Given the description of an element on the screen output the (x, y) to click on. 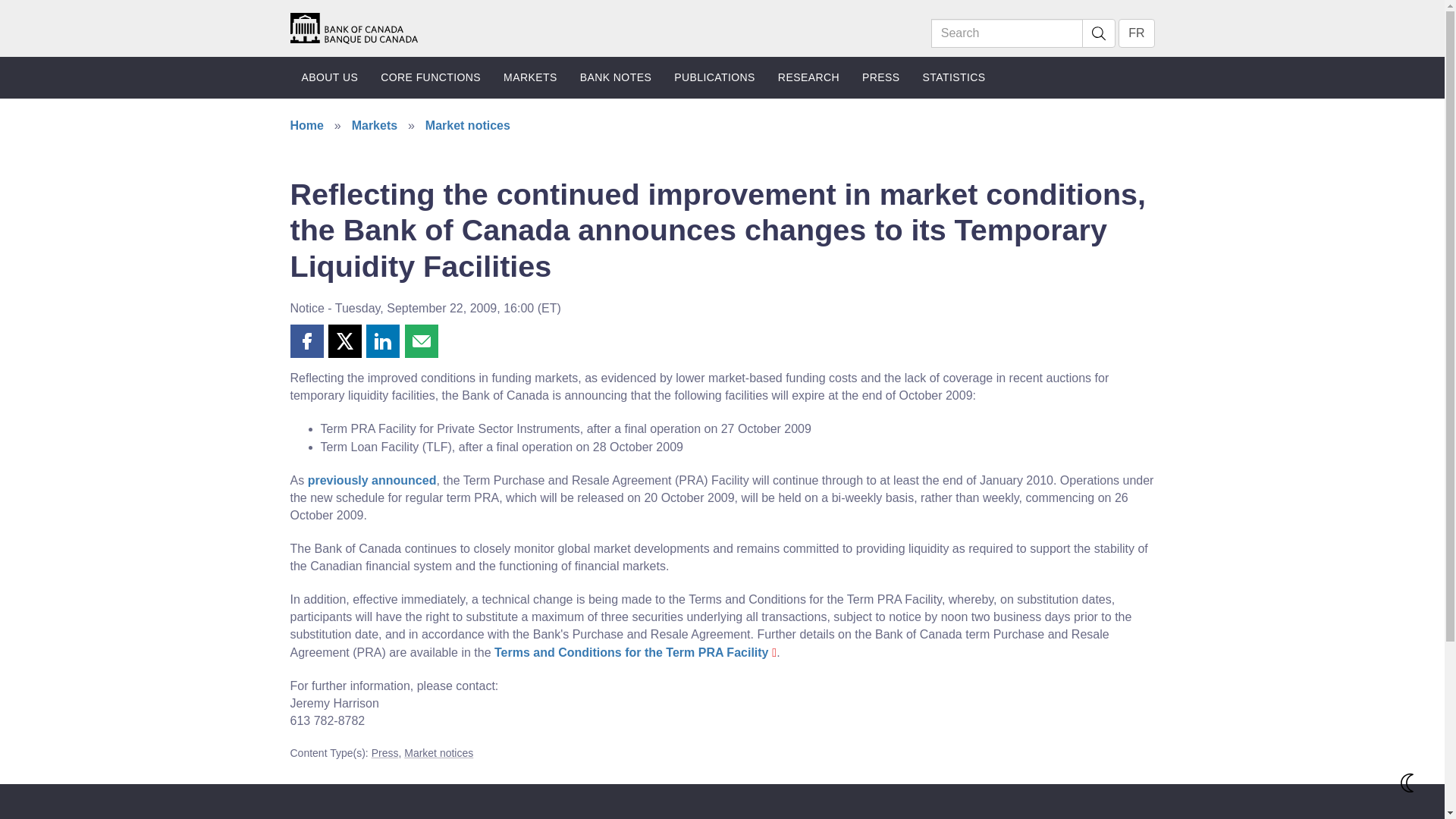
Share this page on Facebook (306, 340)
Share this page on X (345, 340)
Share this page on LinkedIn (382, 340)
Search (1007, 32)
Home (352, 28)
FR (1136, 32)
Search (1098, 32)
Home (352, 27)
CORE FUNCTIONS (430, 77)
ABOUT US (329, 77)
MARKETS (530, 77)
Home (352, 27)
Share this page by email (421, 340)
